Given the description of an element on the screen output the (x, y) to click on. 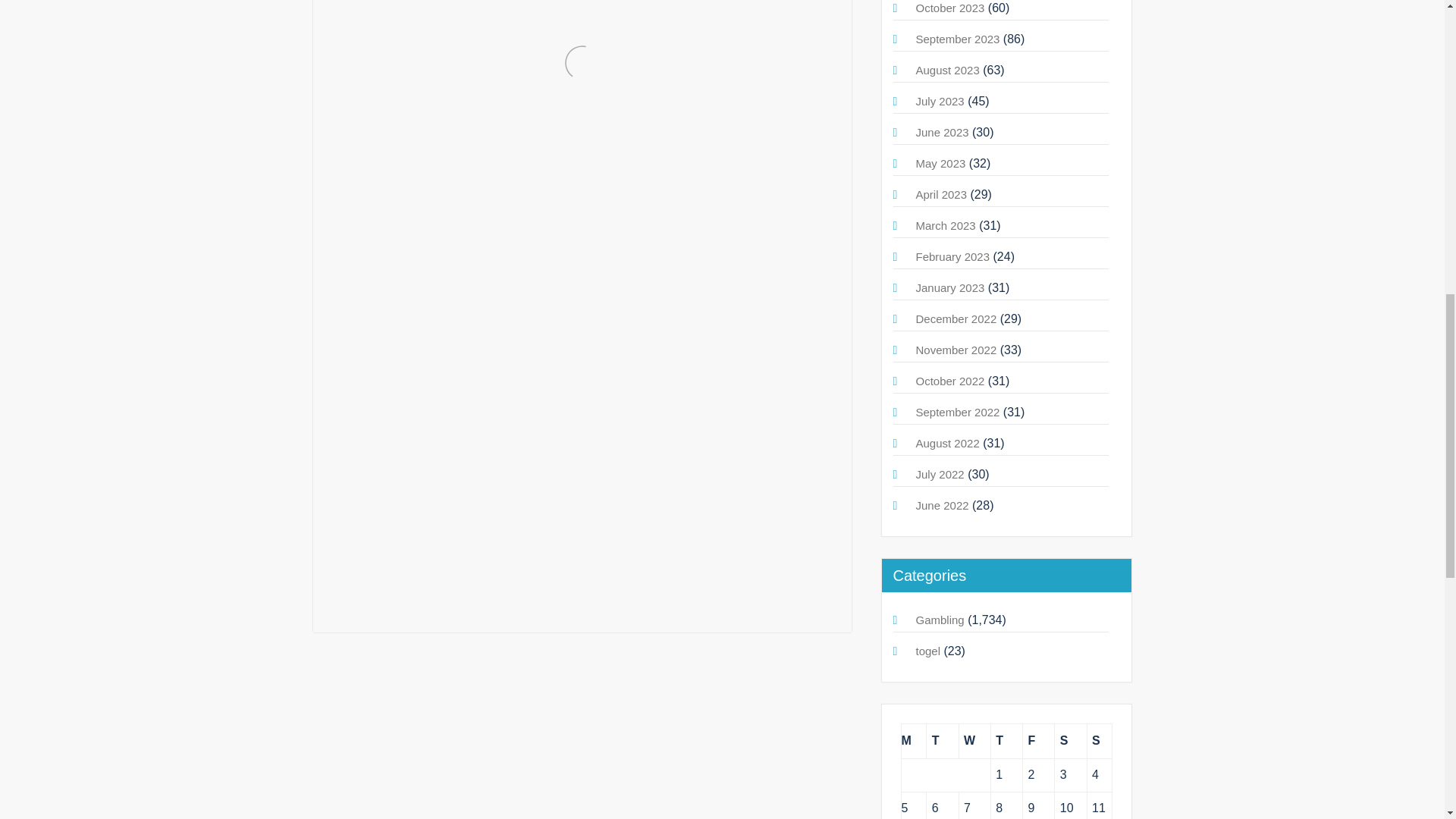
Wednesday (974, 740)
April 2023 (941, 194)
August 2022 (947, 442)
March 2023 (945, 225)
August 2023 (947, 69)
October 2022 (950, 380)
Saturday (1070, 740)
June 2023 (942, 132)
June 2022 (942, 504)
December 2022 (956, 318)
